Given the description of an element on the screen output the (x, y) to click on. 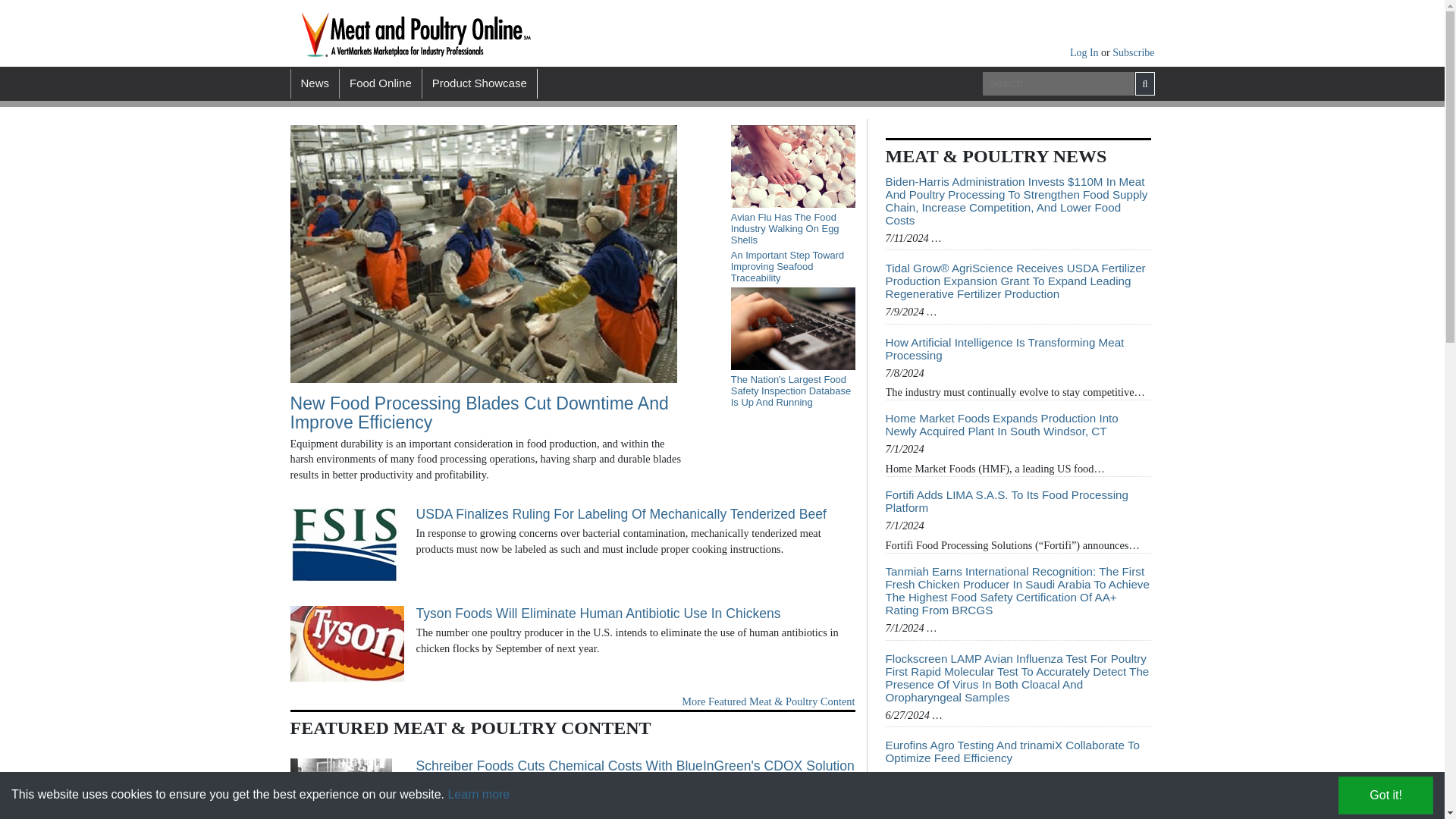
Tyson Foods Will Eliminate Human Antibiotic Use In Chickens (634, 613)
How Artificial Intelligence Is Transforming Meat Processing (1018, 348)
Tyson Foods Will Eliminate Human Antibiotic Use In Chickens (634, 613)
Avian Flu Has The Food Industry Walking On Egg Shells (793, 228)
Product Showcase (479, 83)
Tyson Foods Will Eliminate Human Antibiotic Use In Chickens (346, 643)
An Important Step Toward Improving Seafood Traceability (793, 266)
Subscribe (1133, 52)
News (314, 83)
